Given the description of an element on the screen output the (x, y) to click on. 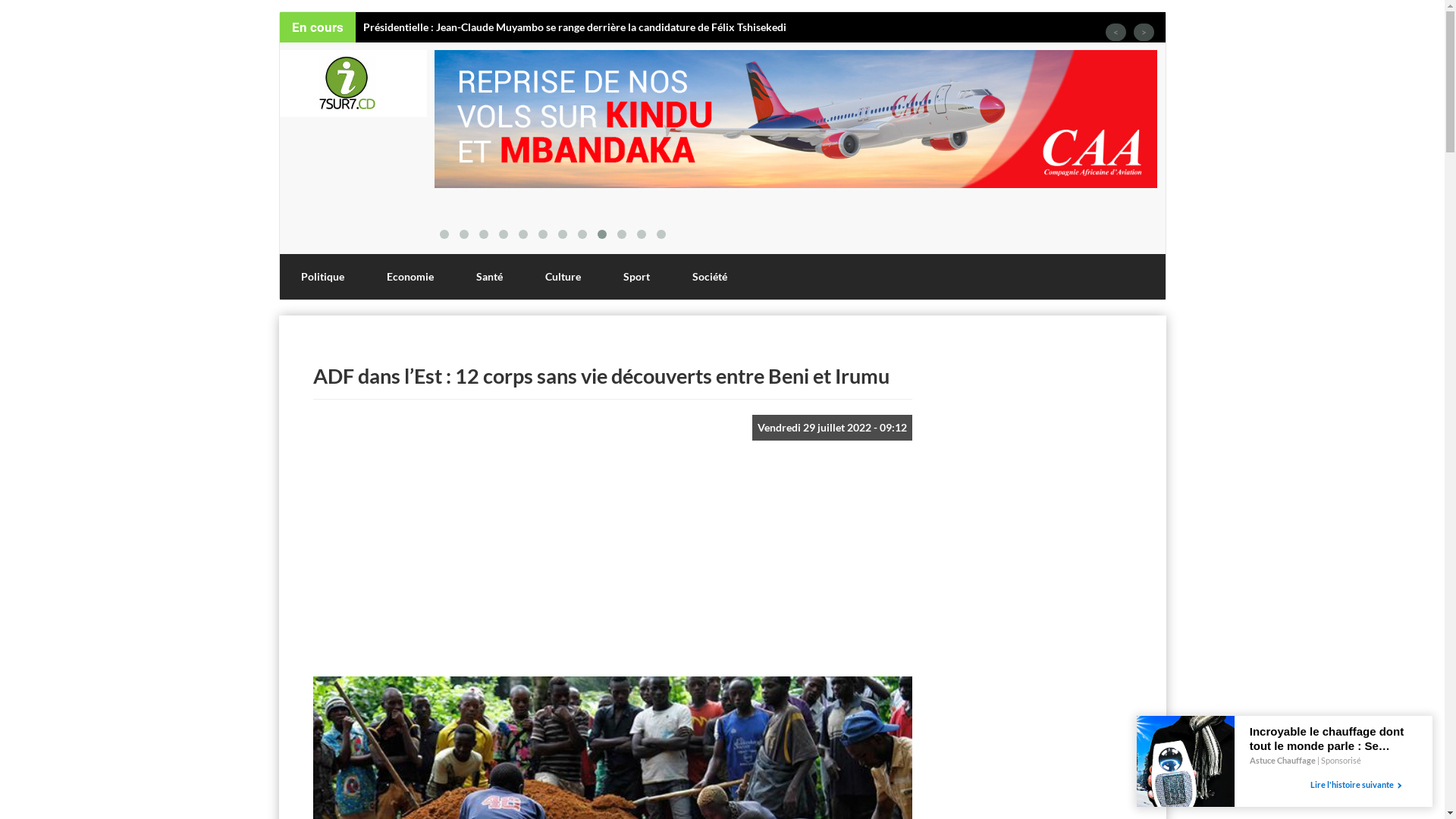
Economie Element type: text (410, 276)
Culture Element type: text (562, 276)
Sport Element type: text (636, 276)
Accueil Element type: hover (352, 83)
Aller au contenu principal Element type: text (0, 11)
Politique Element type: text (321, 276)
Advertisement Element type: hover (1028, 588)
Advertisement Element type: hover (611, 566)
